Given the description of an element on the screen output the (x, y) to click on. 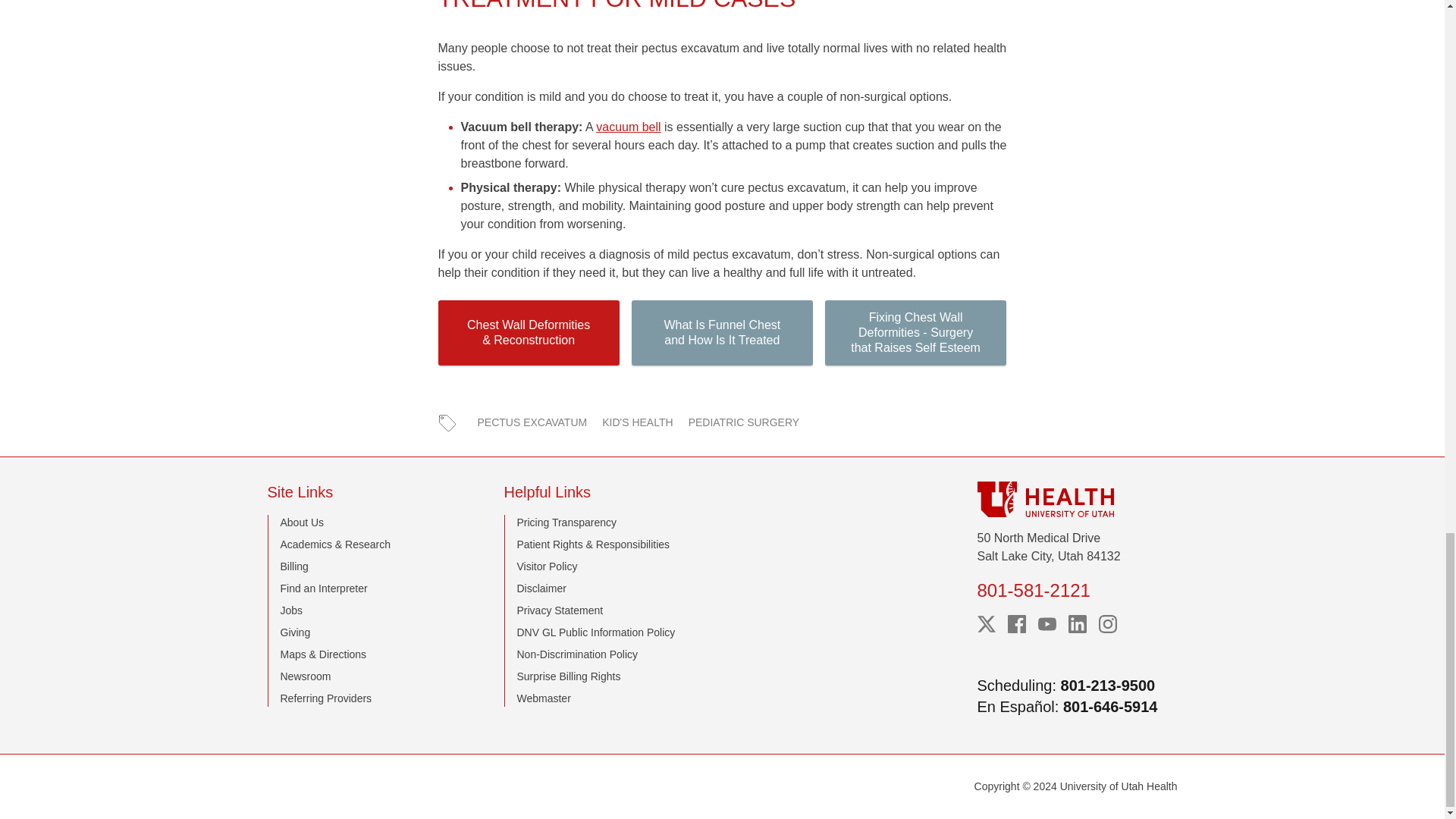
University of Utah Healthcare (1076, 498)
